Given the description of an element on the screen output the (x, y) to click on. 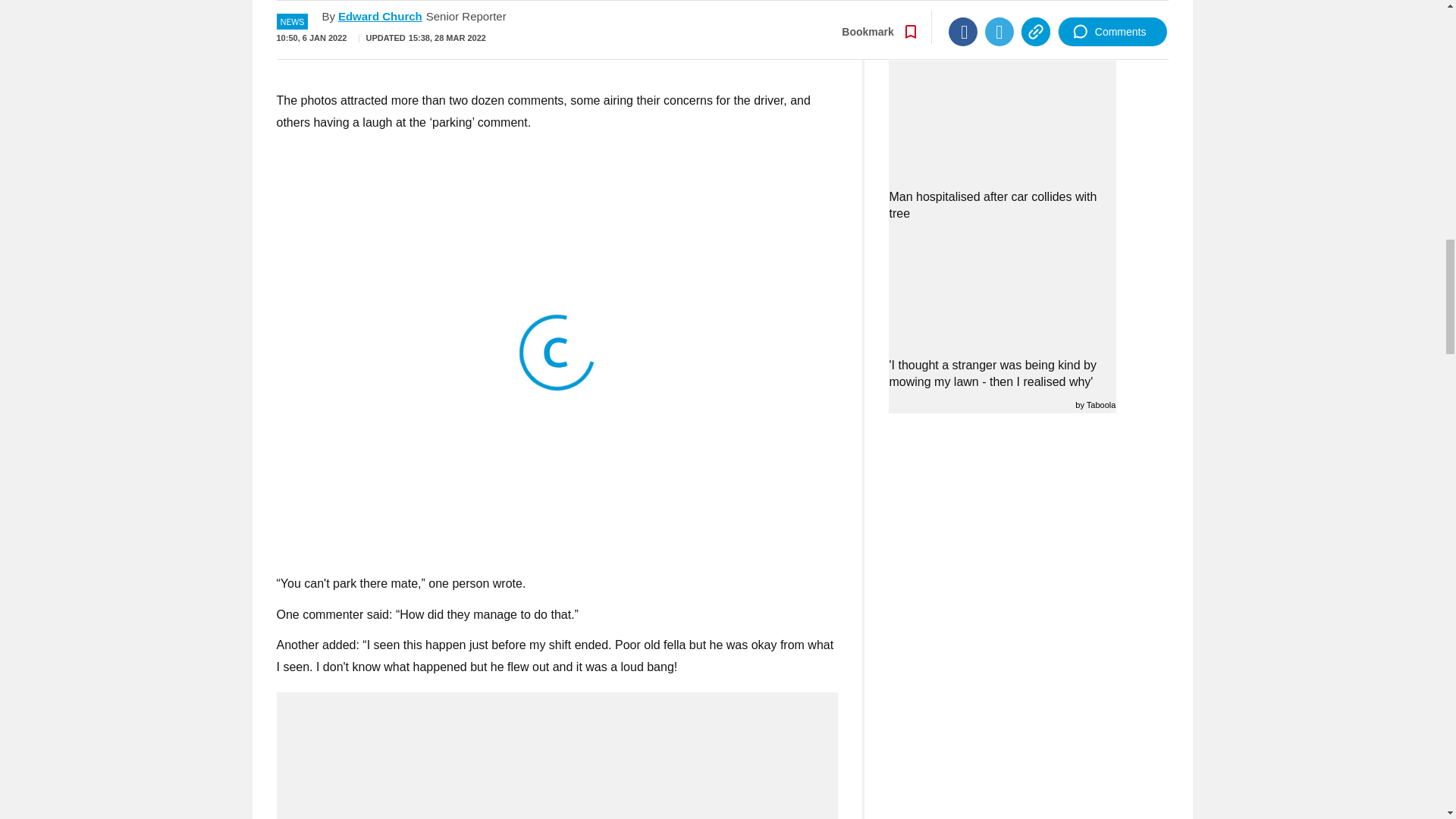
Prices for Villas in Dubai May Surprise You (557, 45)
Prices for Villas in Dubai May Surprise You (557, 12)
